Given the description of an element on the screen output the (x, y) to click on. 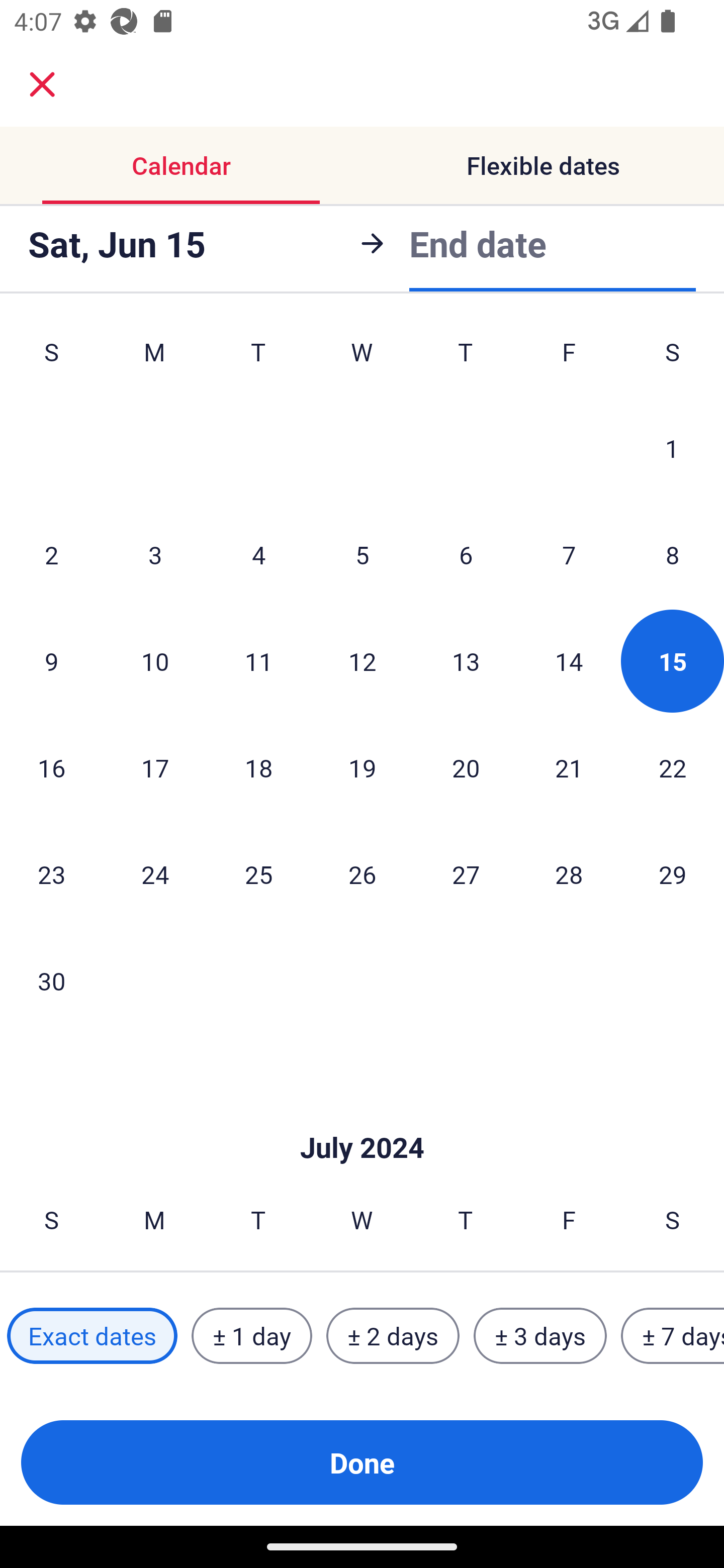
close. (42, 84)
Flexible dates (542, 164)
End date (477, 240)
1 Saturday, June 1, 2024 (672, 448)
2 Sunday, June 2, 2024 (51, 554)
3 Monday, June 3, 2024 (155, 554)
4 Tuesday, June 4, 2024 (258, 554)
5 Wednesday, June 5, 2024 (362, 554)
6 Thursday, June 6, 2024 (465, 554)
7 Friday, June 7, 2024 (569, 554)
8 Saturday, June 8, 2024 (672, 554)
9 Sunday, June 9, 2024 (51, 660)
10 Monday, June 10, 2024 (155, 660)
11 Tuesday, June 11, 2024 (258, 660)
12 Wednesday, June 12, 2024 (362, 660)
13 Thursday, June 13, 2024 (465, 660)
14 Friday, June 14, 2024 (569, 660)
16 Sunday, June 16, 2024 (51, 767)
17 Monday, June 17, 2024 (155, 767)
18 Tuesday, June 18, 2024 (258, 767)
19 Wednesday, June 19, 2024 (362, 767)
20 Thursday, June 20, 2024 (465, 767)
21 Friday, June 21, 2024 (569, 767)
22 Saturday, June 22, 2024 (672, 767)
23 Sunday, June 23, 2024 (51, 874)
24 Monday, June 24, 2024 (155, 874)
25 Tuesday, June 25, 2024 (258, 874)
26 Wednesday, June 26, 2024 (362, 874)
27 Thursday, June 27, 2024 (465, 874)
28 Friday, June 28, 2024 (569, 874)
29 Saturday, June 29, 2024 (672, 874)
30 Sunday, June 30, 2024 (51, 980)
Skip to Done (362, 1117)
Exact dates (92, 1335)
± 1 day (251, 1335)
± 2 days (392, 1335)
± 3 days (539, 1335)
± 7 days (672, 1335)
Done (361, 1462)
